Given the description of an element on the screen output the (x, y) to click on. 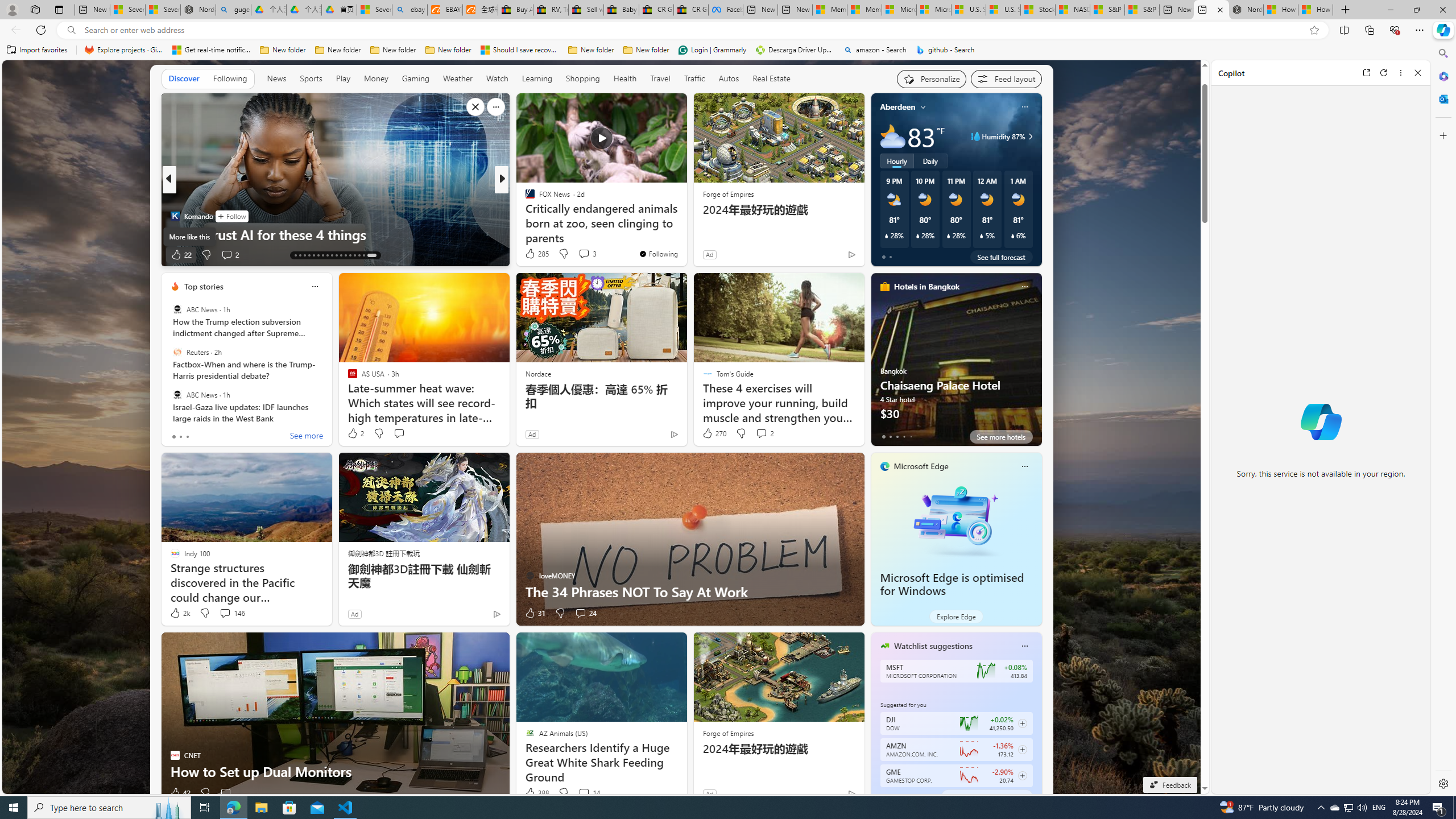
AutomationID: tab-16 (309, 255)
hotels-header-icon (884, 286)
View comments 14 Comment (583, 792)
More options (1401, 72)
Gaming (415, 78)
Login | Grammarly (712, 49)
See watchlist suggestions (986, 796)
ebay - Search (409, 9)
Feedback (1169, 784)
